Given the description of an element on the screen output the (x, y) to click on. 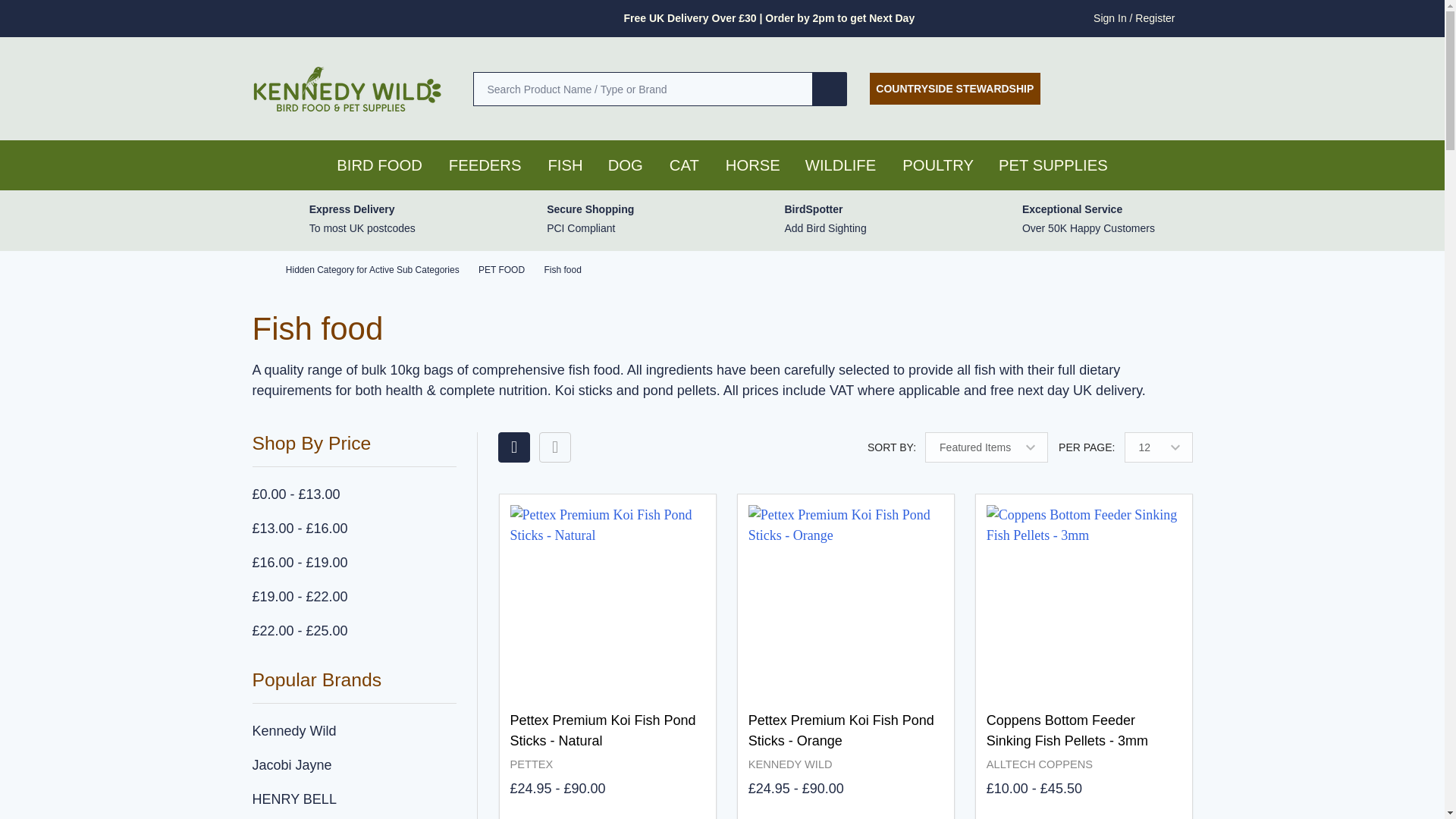
BIRD FOOD (375, 165)
HENRY BELL (354, 799)
FISH (564, 165)
Gift Certificates (1131, 88)
Kennedy Wild (354, 731)
Call Us: 01778342665 (1080, 88)
SEARCH (829, 88)
DOG (620, 165)
